Given the description of an element on the screen output the (x, y) to click on. 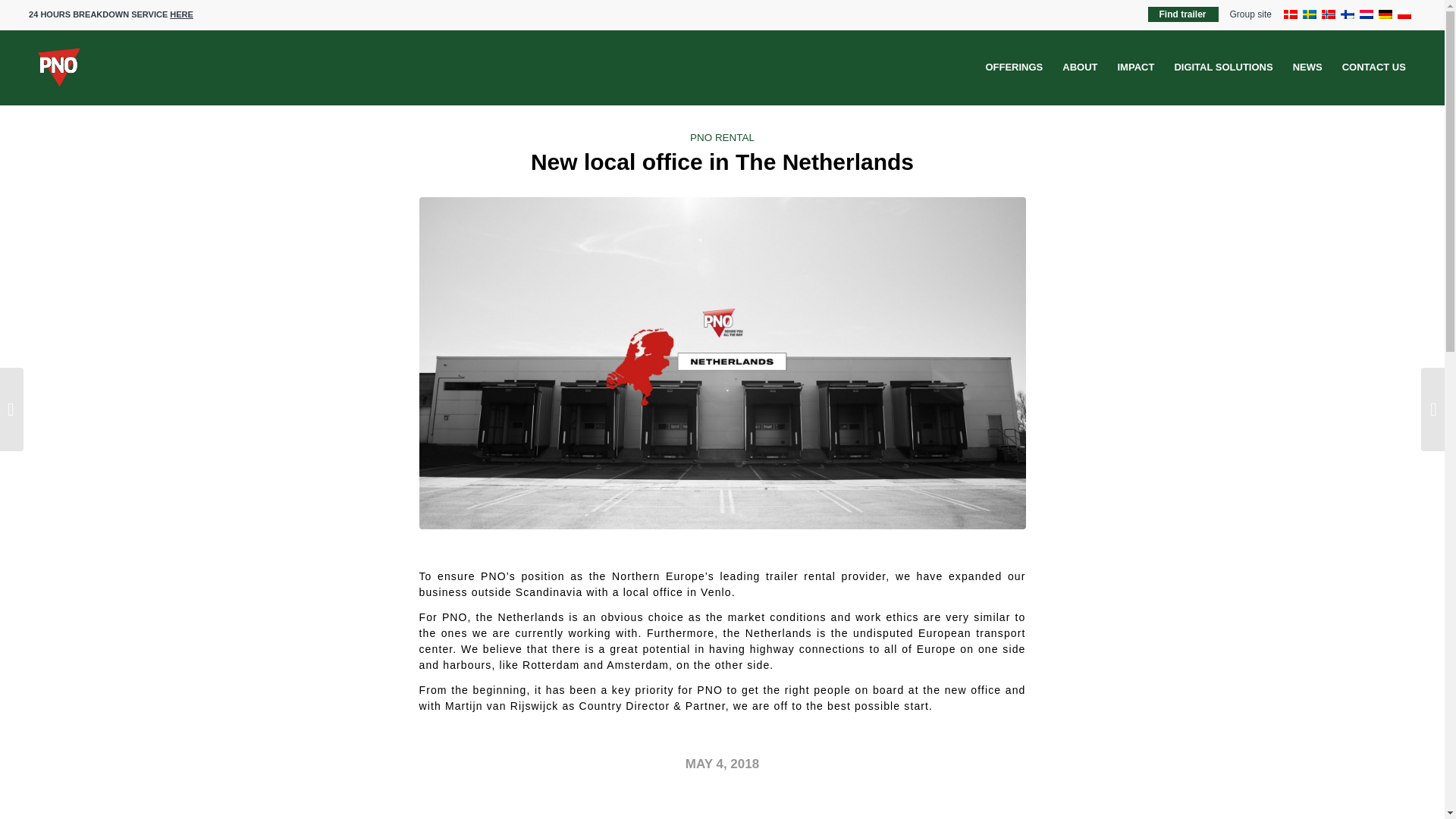
IMPACT (1134, 66)
ABOUT (1079, 66)
PNO RENTAL (722, 137)
Deutsch (1385, 14)
Find trailer (1182, 14)
CONTACT US (1373, 66)
Group site (1250, 14)
Impact (1134, 66)
polski (1404, 14)
Svenska (1309, 14)
